Given the description of an element on the screen output the (x, y) to click on. 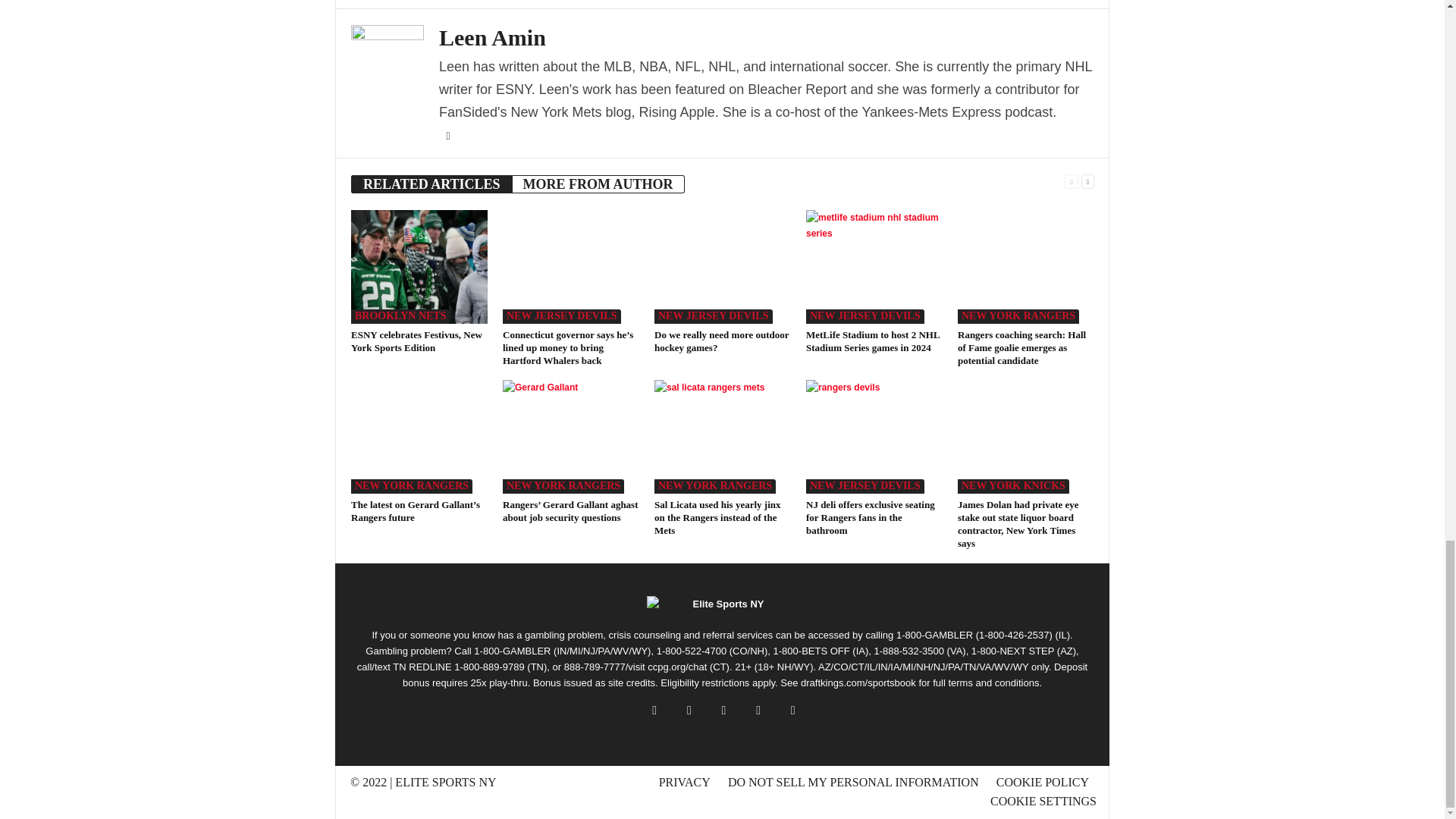
ESNY celebrates Festivus, New York Sports Edition (415, 340)
ESNY celebrates Festivus, New York Sports Edition (418, 266)
Twitter (448, 136)
